Given the description of an element on the screen output the (x, y) to click on. 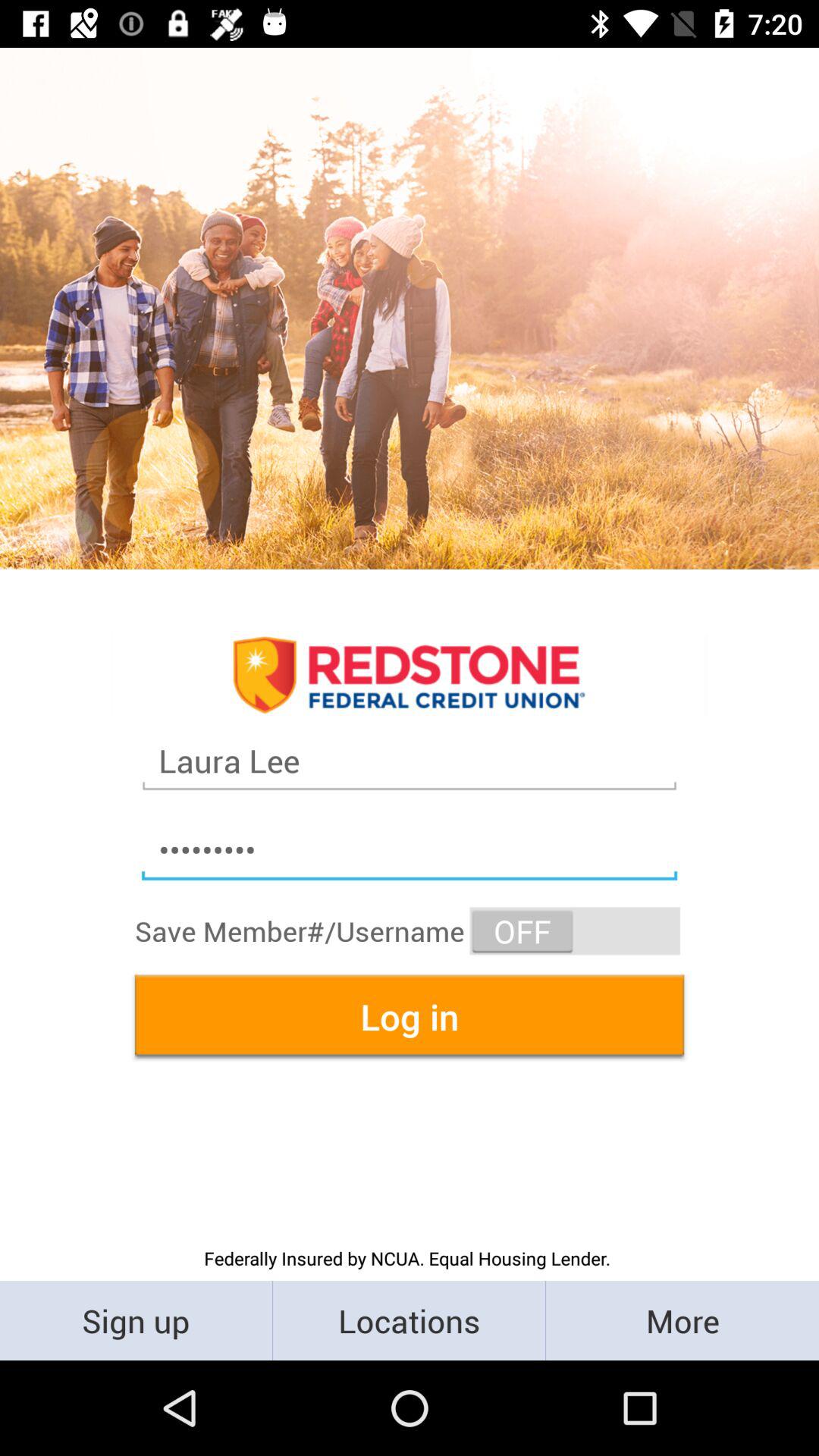
scroll to the laura lee icon (409, 760)
